Given the description of an element on the screen output the (x, y) to click on. 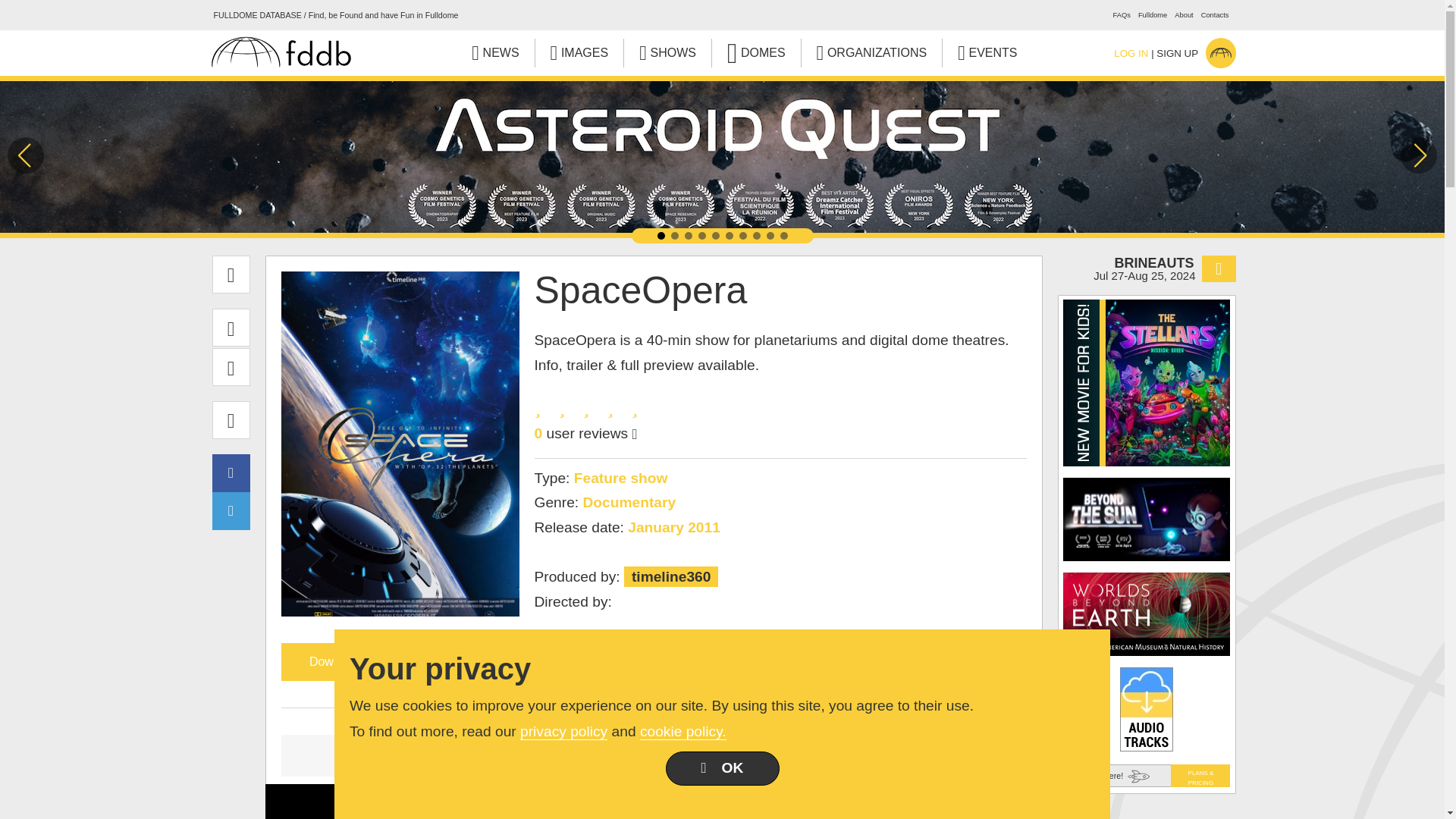
Contacts (1214, 14)
cookie policy. (683, 731)
The video is missing (404, 755)
Fulldome (1152, 14)
OK (721, 768)
About (1183, 14)
FAQs (1122, 14)
SHOWS (667, 52)
NEWS (494, 52)
ORGANIZATIONS (871, 52)
Full preview (902, 755)
EVENTS (987, 52)
DOMES (756, 52)
IMAGES (579, 52)
privacy policy (563, 731)
